Given the description of an element on the screen output the (x, y) to click on. 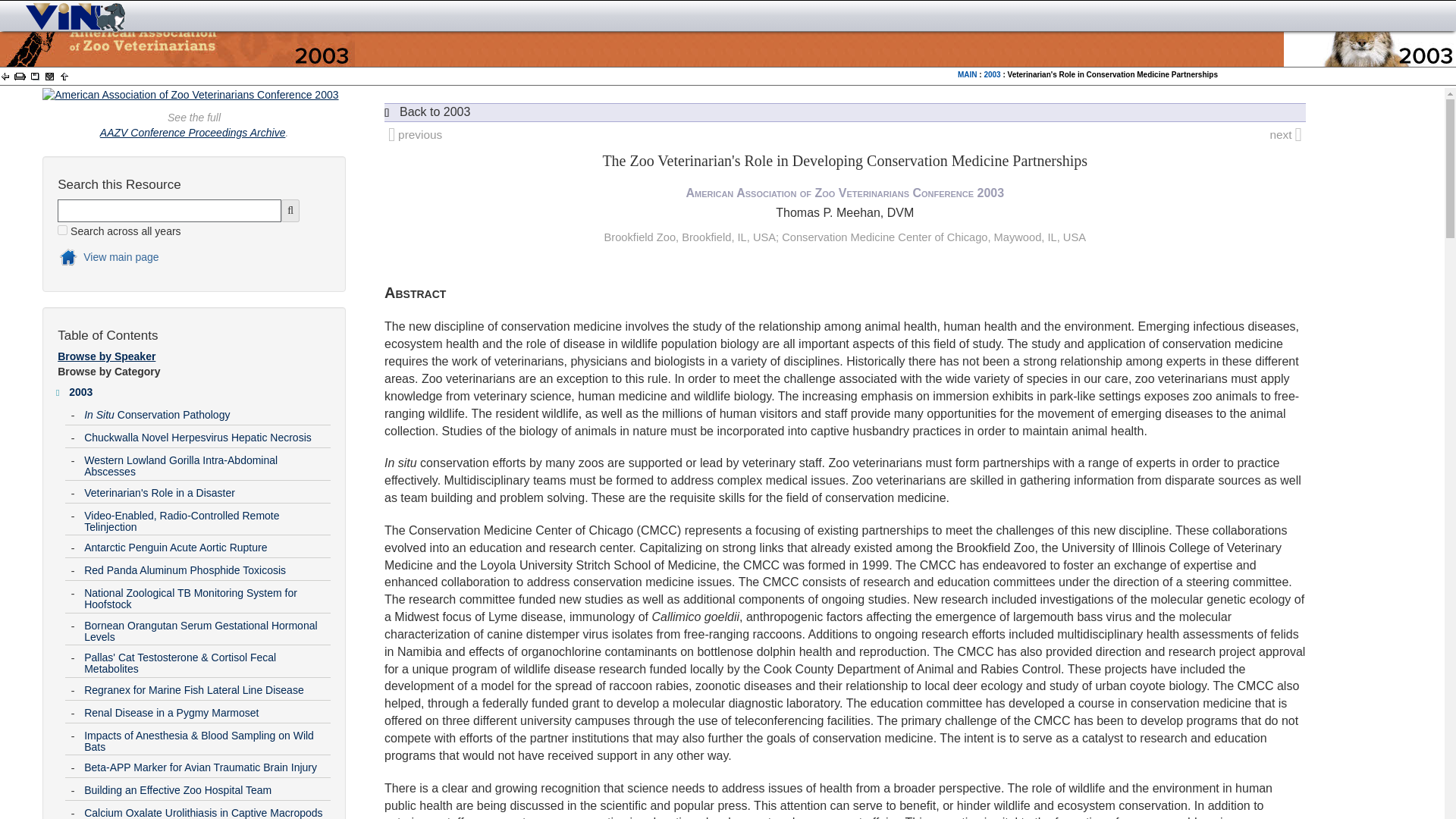
on (62, 230)
